Given the description of an element on the screen output the (x, y) to click on. 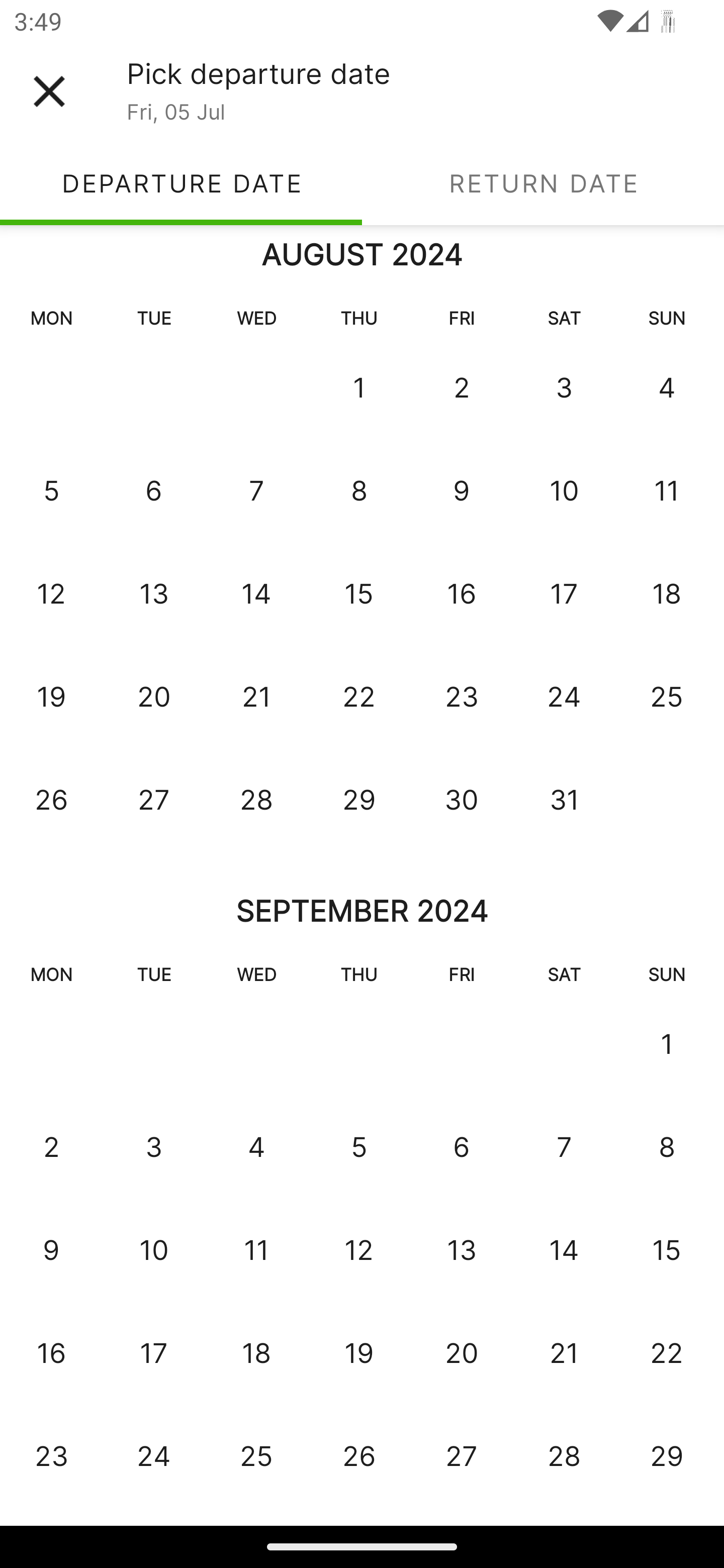
Return Date RETURN DATE (543, 183)
